Given the description of an element on the screen output the (x, y) to click on. 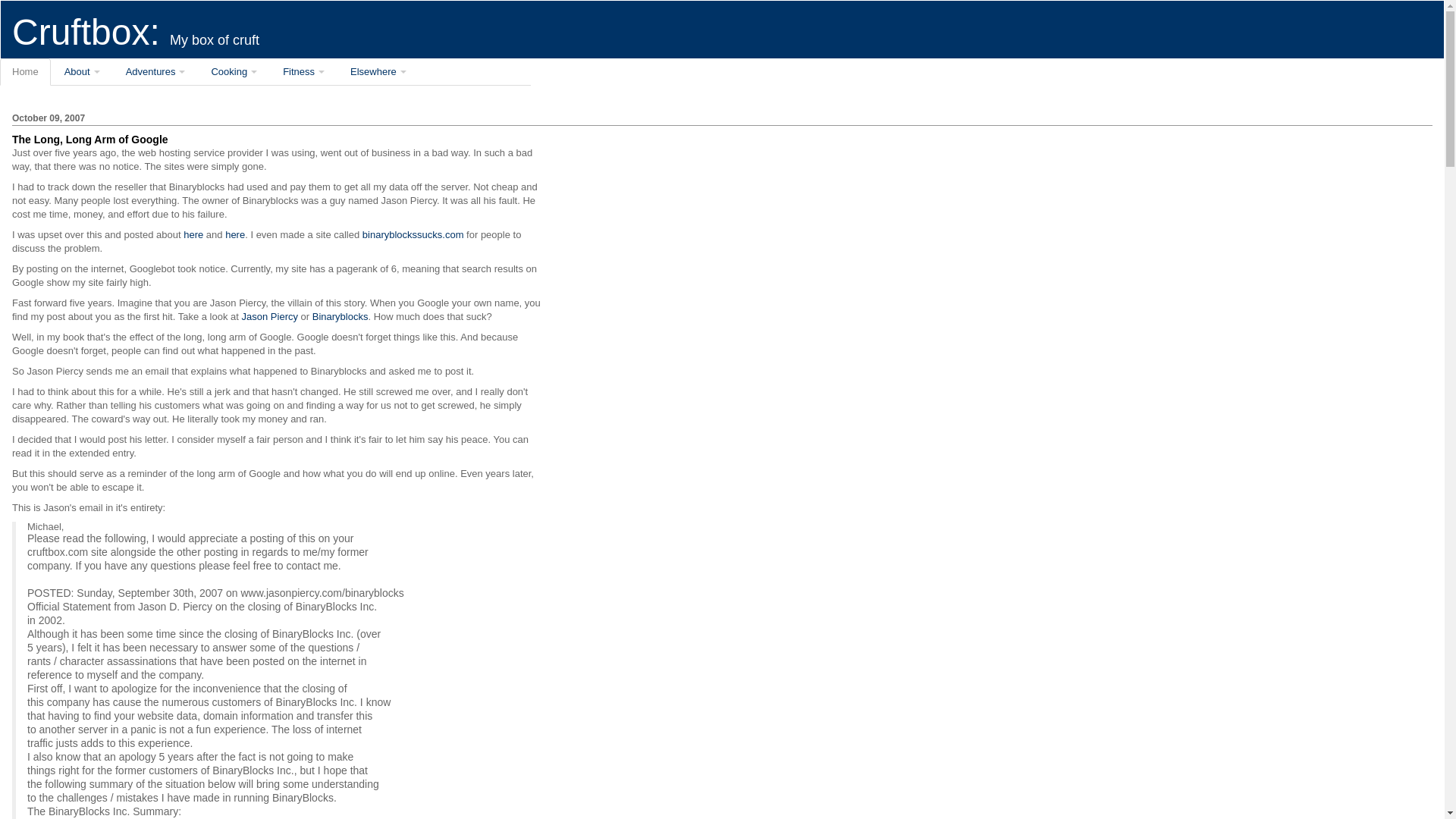
About (82, 71)
Cooking (233, 71)
Home (25, 71)
Adventures (155, 71)
